Given the description of an element on the screen output the (x, y) to click on. 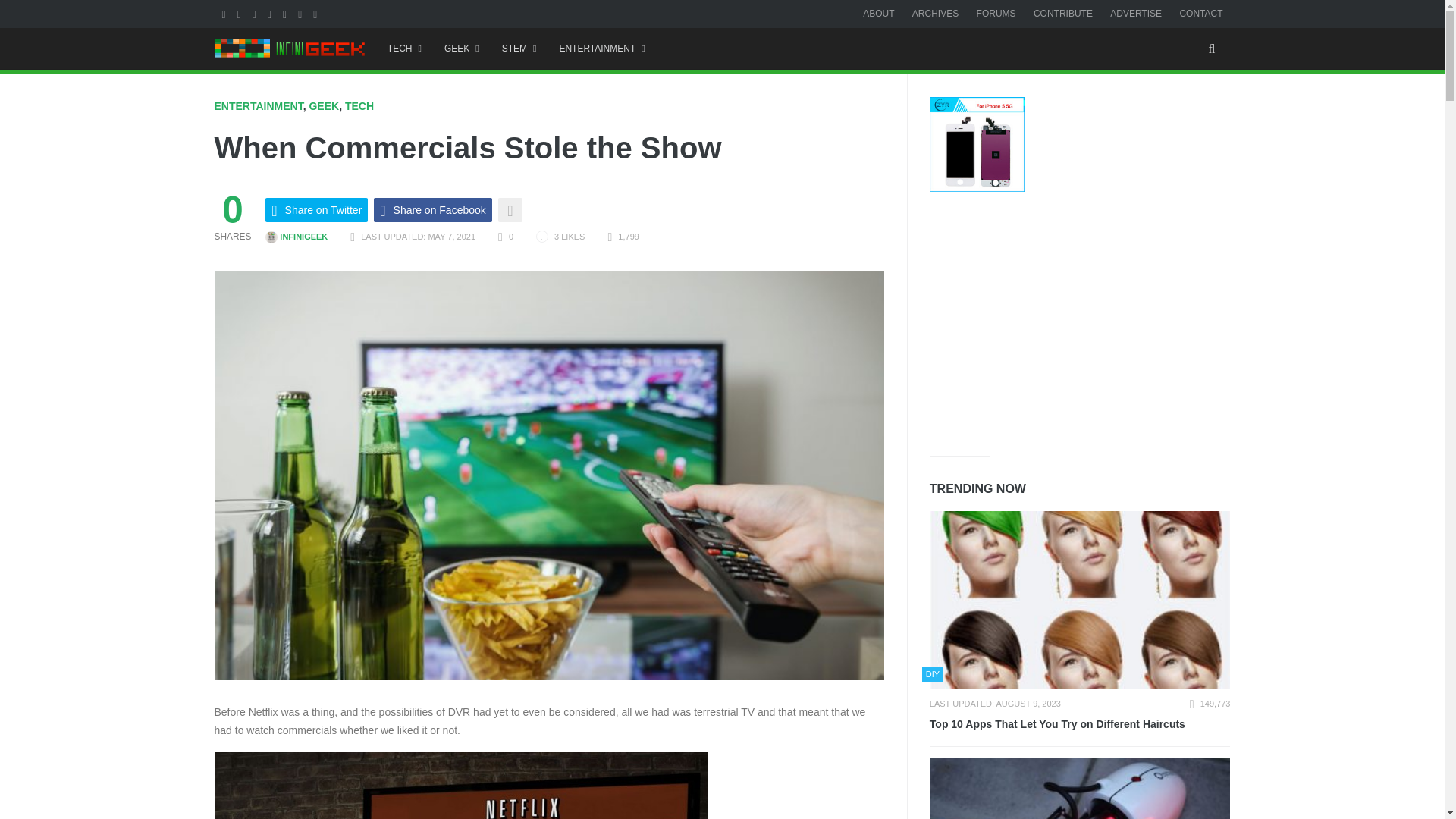
Entertainment (602, 48)
INFINIGEEK (295, 235)
ABOUT (878, 13)
View all posts in Entertainment (258, 105)
ENTERTAINMENT (258, 105)
CONTACT (1201, 13)
ADVERTISE (1135, 13)
View all posts in Tech (359, 105)
ENTERTAINMENT (602, 48)
FORUMS (996, 13)
ARCHIVES (935, 13)
View all posts in Geek (323, 105)
CONTRIBUTE (1063, 13)
TECH (359, 105)
GEEK (323, 105)
